Given the description of an element on the screen output the (x, y) to click on. 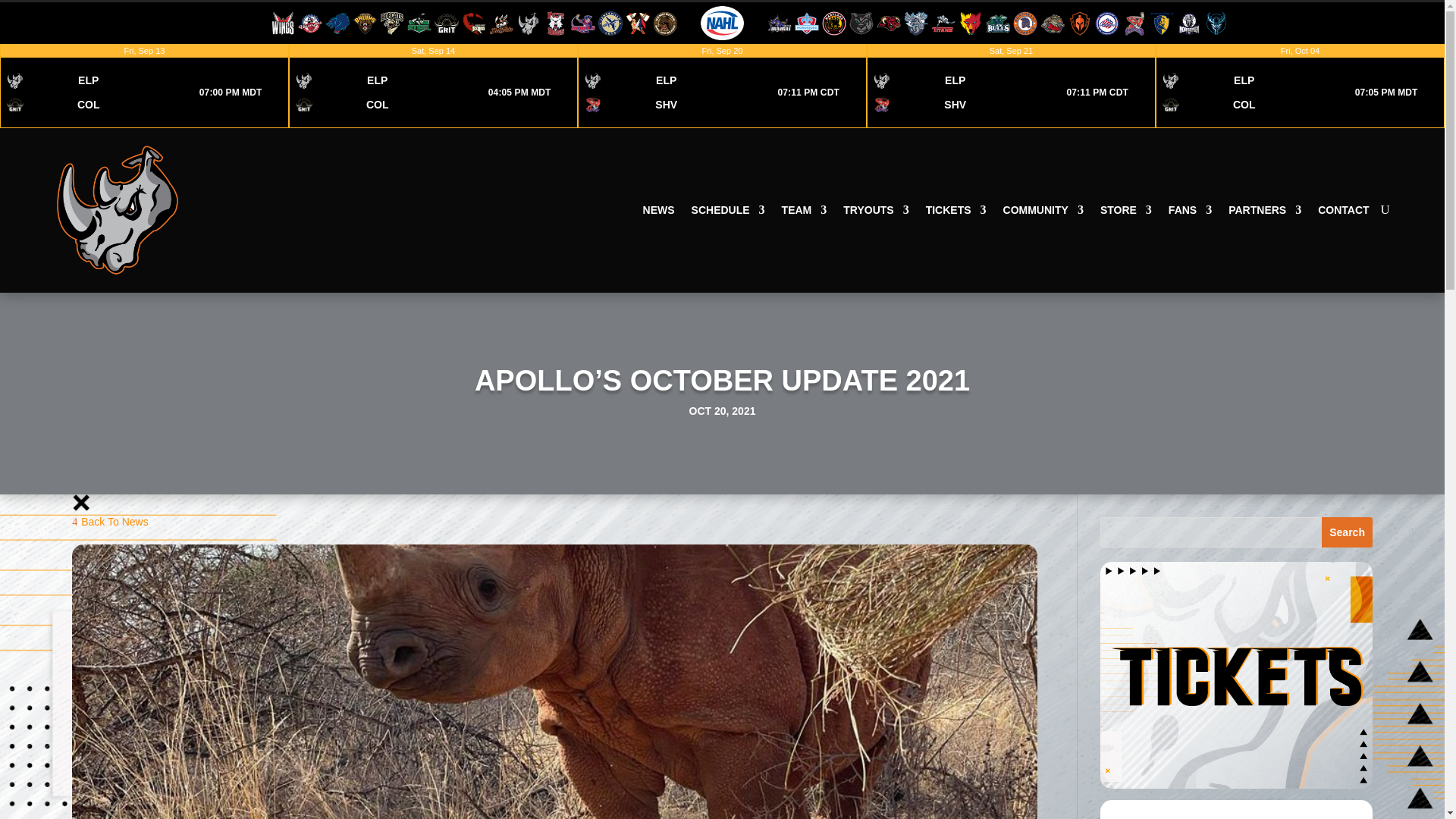
Kenai River Brown Bears (664, 21)
El Paso Rhinos (528, 21)
Chippewa Steel (419, 21)
Corpus Christi Ice Rays (473, 21)
Danbury Jr. Hat Tricks (501, 21)
Anchorage Wolverines (336, 21)
Johnstown Tomahawks (1011, 85)
Bismarck Bobcats (144, 85)
Colorado Grit (722, 85)
Aberdeen Wings (433, 85)
Fairbanks Ice Dogs (637, 21)
